Given the description of an element on the screen output the (x, y) to click on. 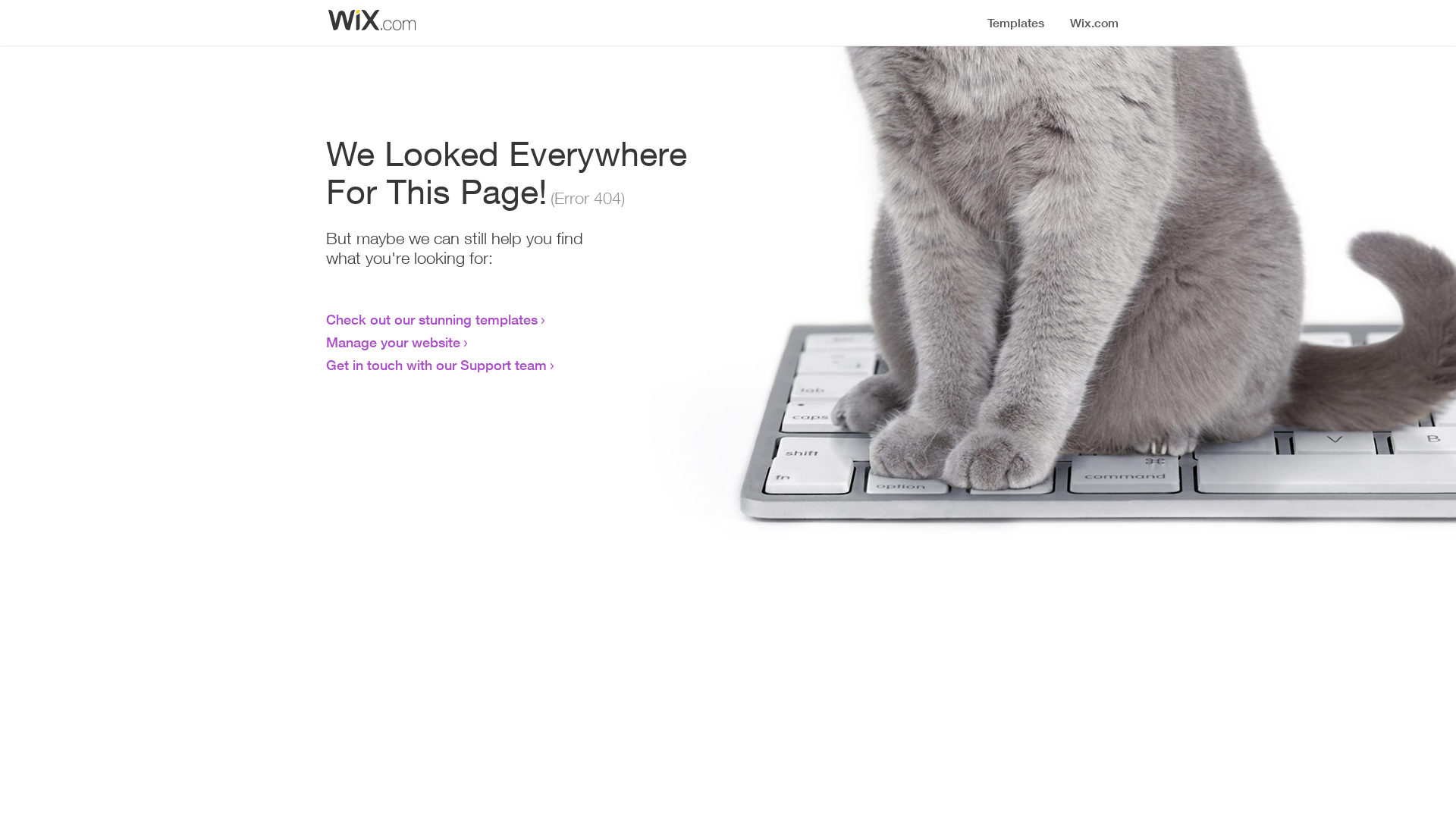
Get in touch with our Support team Element type: text (436, 364)
Check out our stunning templates Element type: text (431, 318)
Manage your website Element type: text (393, 341)
